Given the description of an element on the screen output the (x, y) to click on. 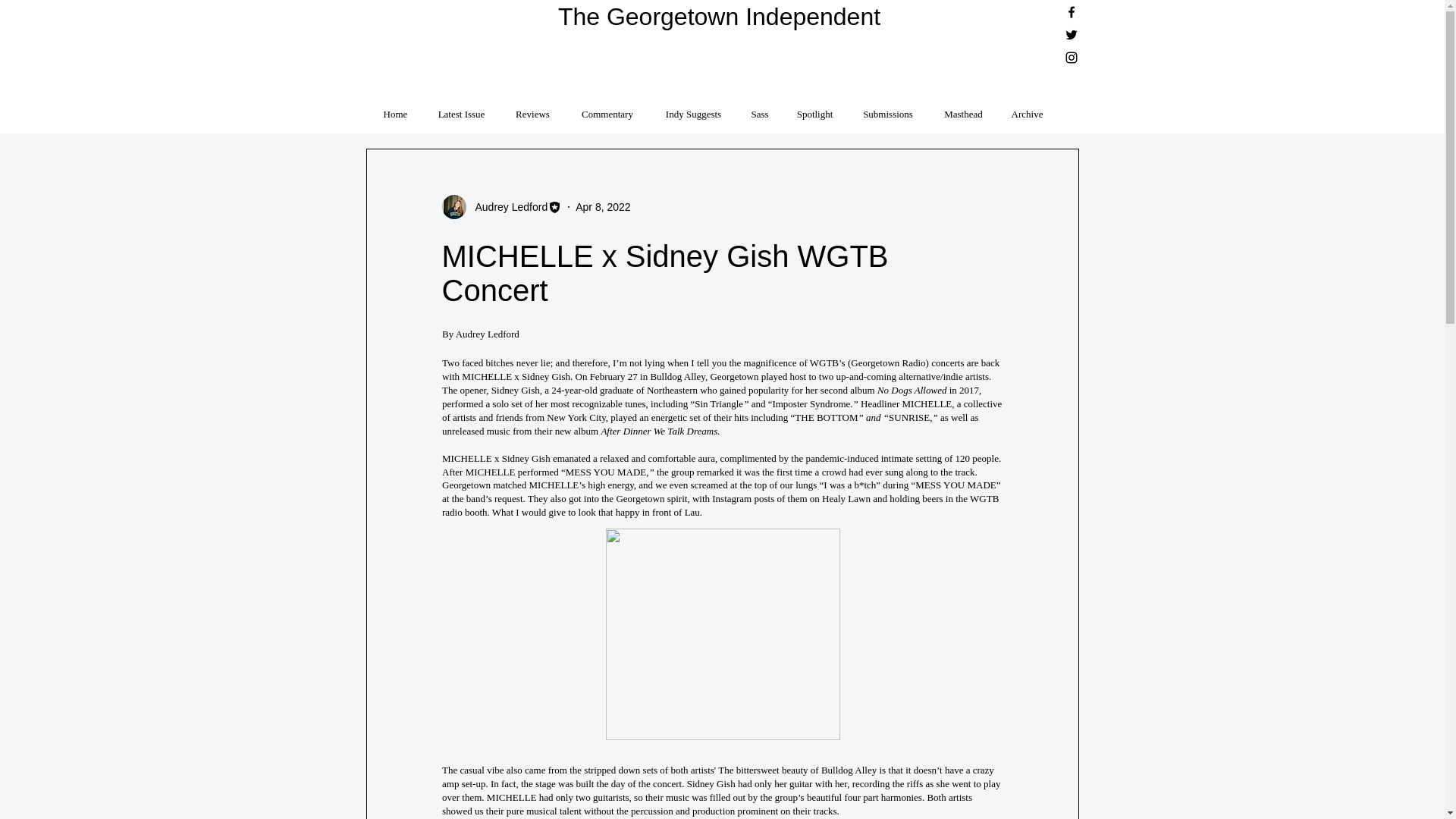
Latest Issue (461, 107)
Audrey Ledford (501, 206)
Submissions (886, 107)
Commentary (606, 107)
Home (395, 107)
Reviews (532, 107)
Audrey Ledford (506, 206)
Sass (759, 107)
Indy Suggests (693, 107)
Archive (1027, 107)
Masthead (963, 107)
The Georgetown Independent (718, 16)
Apr 8, 2022 (602, 205)
Spotlight (814, 107)
